Given the description of an element on the screen output the (x, y) to click on. 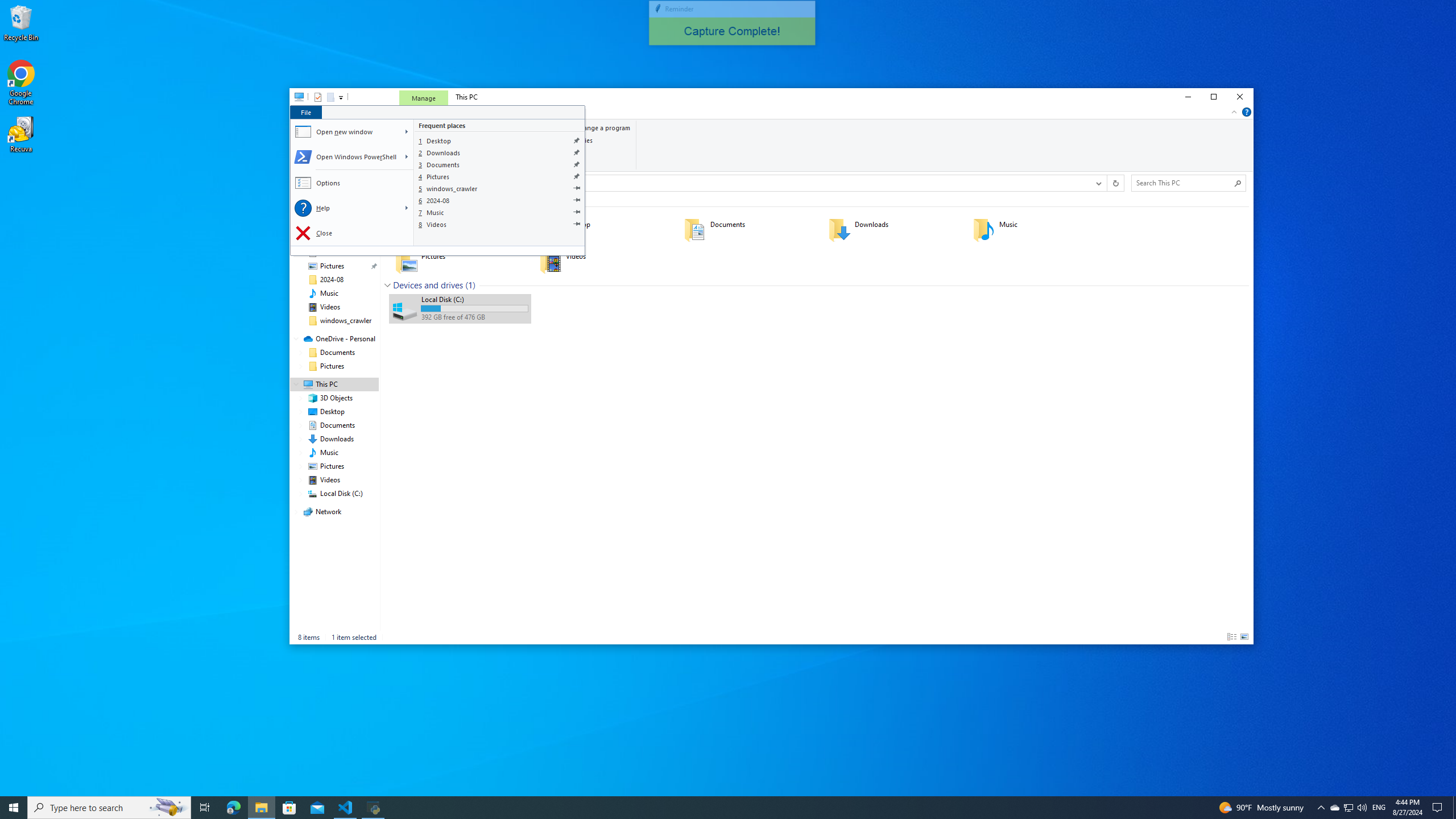
Help (345, 207)
Desktop (499, 140)
Open Windows PowerShell (345, 156)
S (406, 156)
Videos (499, 224)
Music (499, 212)
Close (352, 232)
Pictures (499, 176)
Downloads (499, 152)
